Given the description of an element on the screen output the (x, y) to click on. 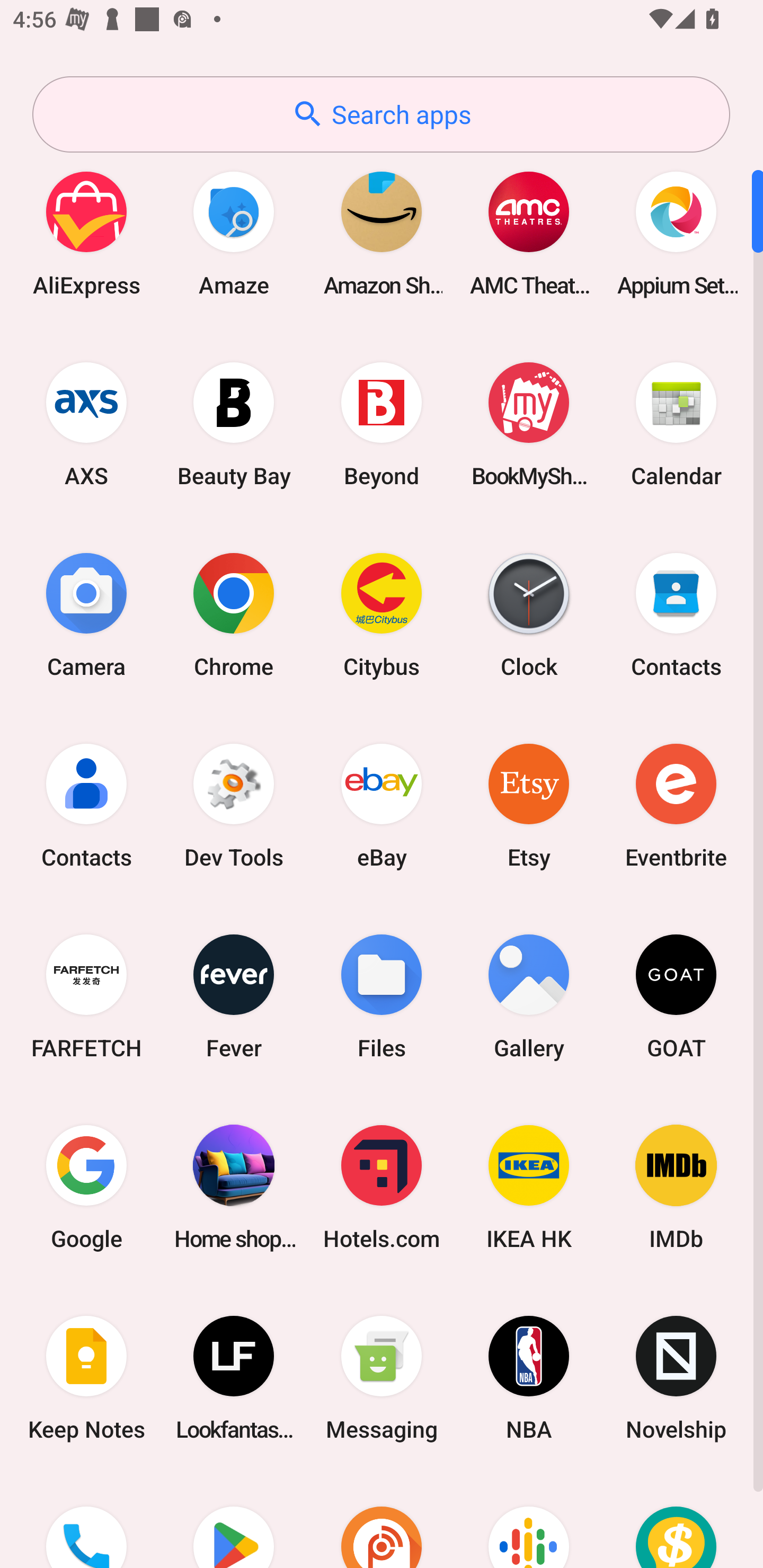
  Search apps (381, 114)
AliExpress (86, 233)
Amaze (233, 233)
Amazon Shopping (381, 233)
AMC Theatres (528, 233)
Appium Settings (676, 233)
AXS (86, 424)
Beauty Bay (233, 424)
Beyond (381, 424)
BookMyShow (528, 424)
Calendar (676, 424)
Camera (86, 614)
Chrome (233, 614)
Citybus (381, 614)
Clock (528, 614)
Contacts (676, 614)
Contacts (86, 805)
Dev Tools (233, 805)
eBay (381, 805)
Etsy (528, 805)
Eventbrite (676, 805)
FARFETCH (86, 996)
Fever (233, 996)
Files (381, 996)
Gallery (528, 996)
GOAT (676, 996)
Google (86, 1186)
Home shopping (233, 1186)
Hotels.com (381, 1186)
IKEA HK (528, 1186)
IMDb (676, 1186)
Keep Notes (86, 1377)
Lookfantastic (233, 1377)
Messaging (381, 1377)
NBA (528, 1377)
Novelship (676, 1377)
Phone (86, 1520)
Play Store (233, 1520)
Podcast Addict (381, 1520)
Podcasts (528, 1520)
Price (676, 1520)
